Given the description of an element on the screen output the (x, y) to click on. 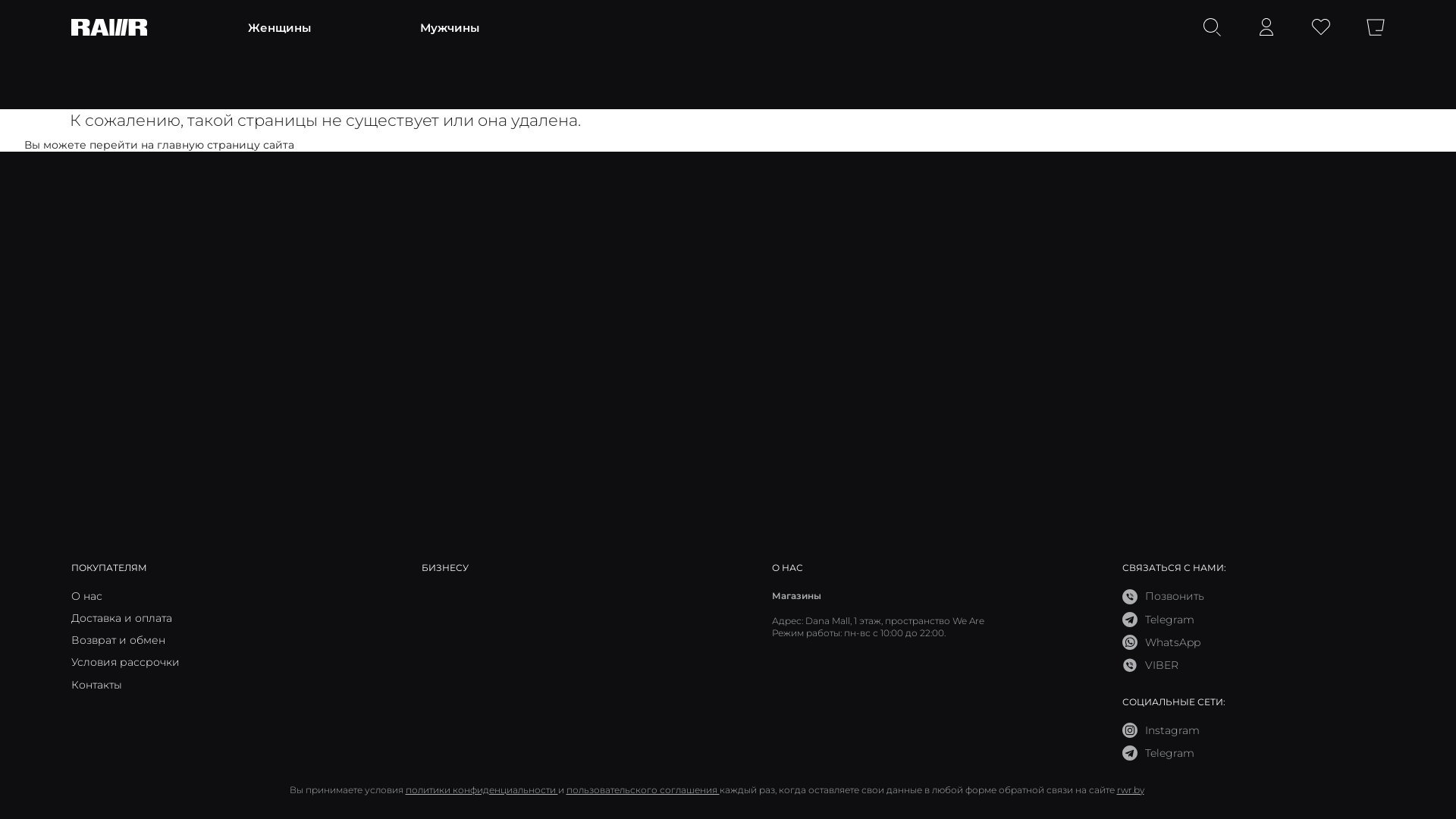
VIBER Element type: text (1150, 664)
WhatsApp Element type: text (1161, 641)
Telegram Element type: text (1158, 752)
Telegram Element type: text (1158, 619)
rwr.by Element type: text (1129, 789)
Instagram Element type: text (1160, 729)
